Given the description of an element on the screen output the (x, y) to click on. 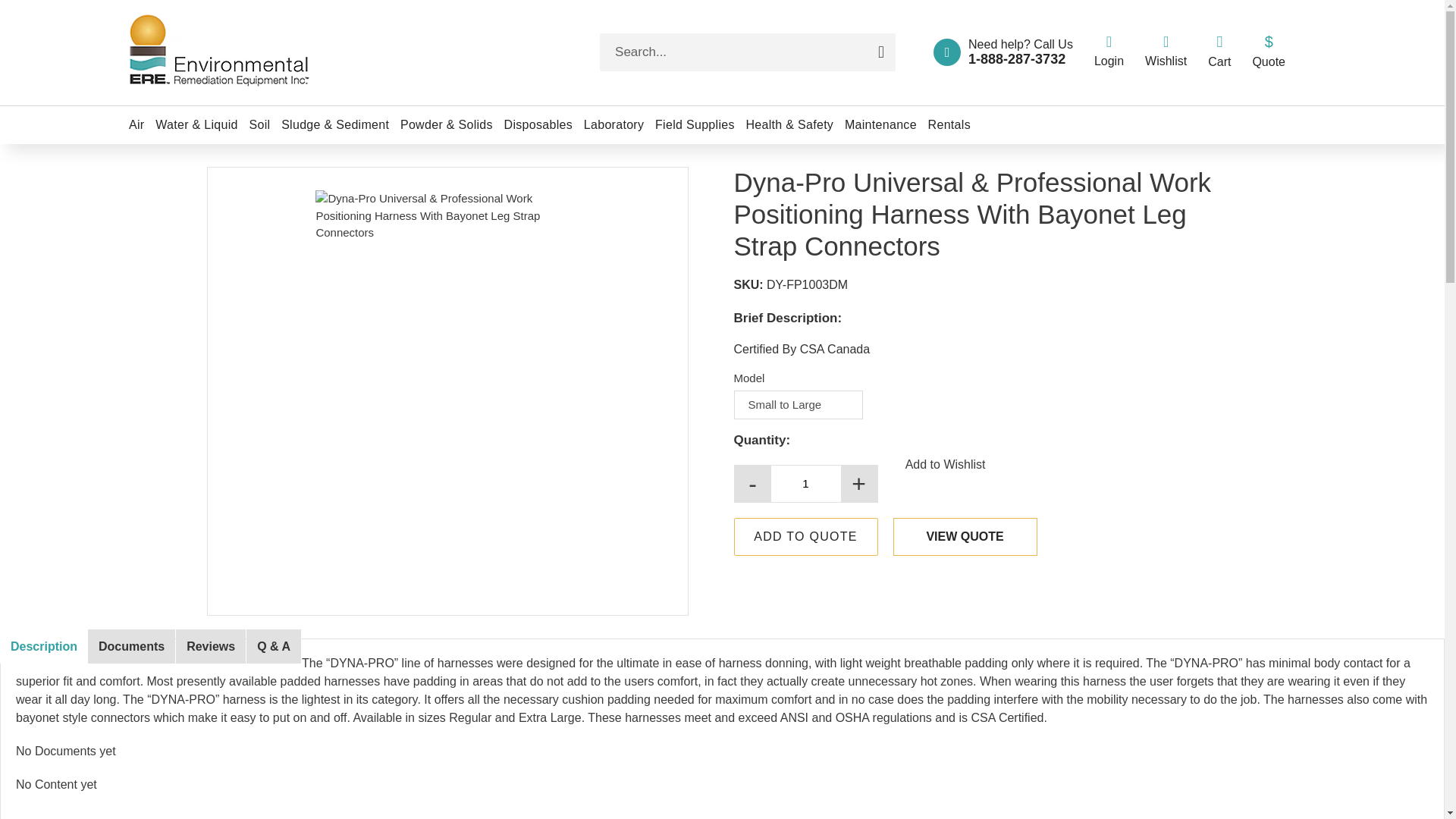
Wishlist (1165, 52)
wishlist (1165, 41)
1-888-287-3732 (1016, 59)
1 (806, 483)
